Given the description of an element on the screen output the (x, y) to click on. 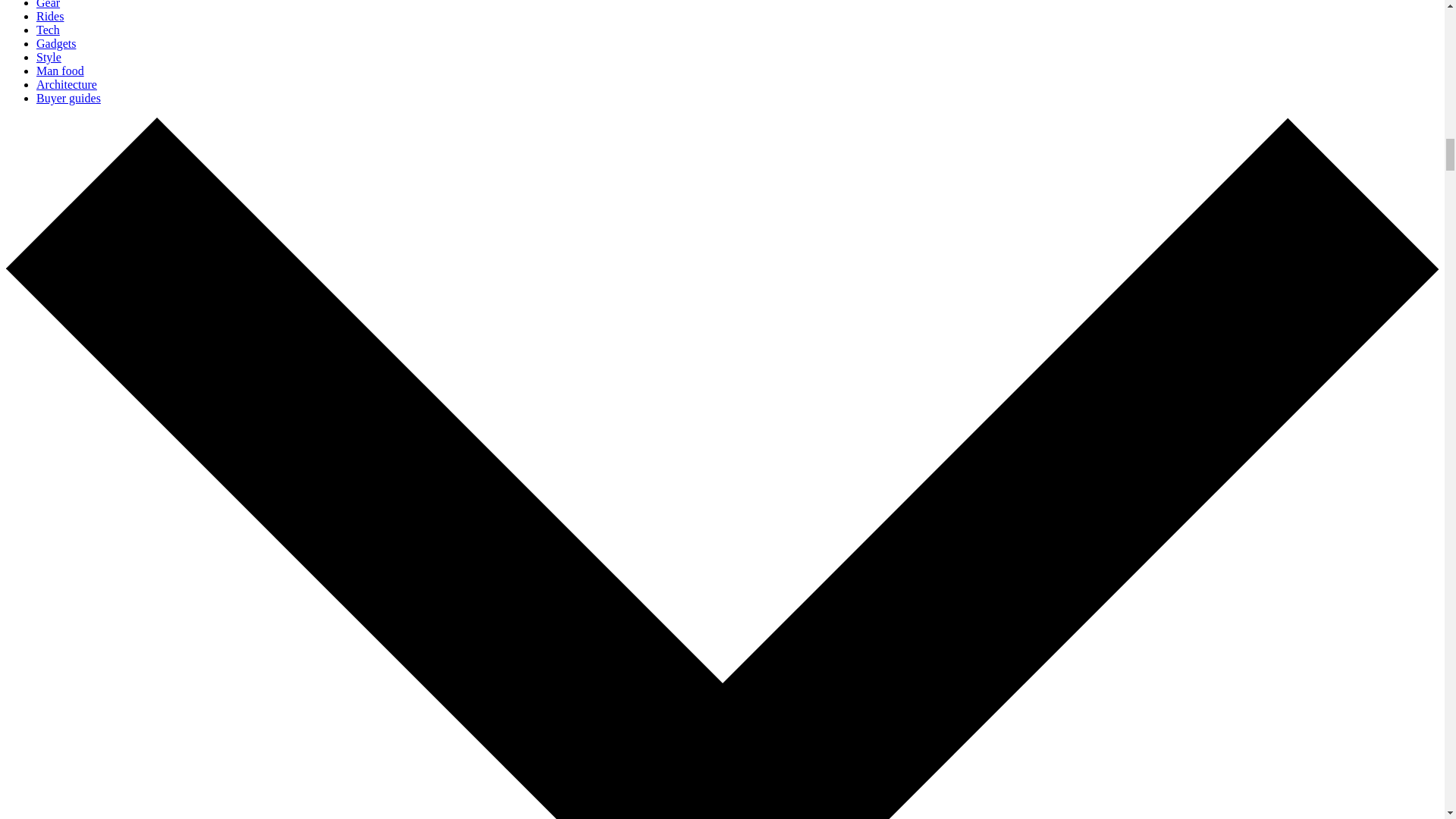
Style (48, 56)
Gear (47, 4)
Man food (60, 70)
Tech (47, 29)
Gadgets (55, 42)
Rides (50, 15)
Buyer guides (68, 97)
Architecture (66, 83)
